Given the description of an element on the screen output the (x, y) to click on. 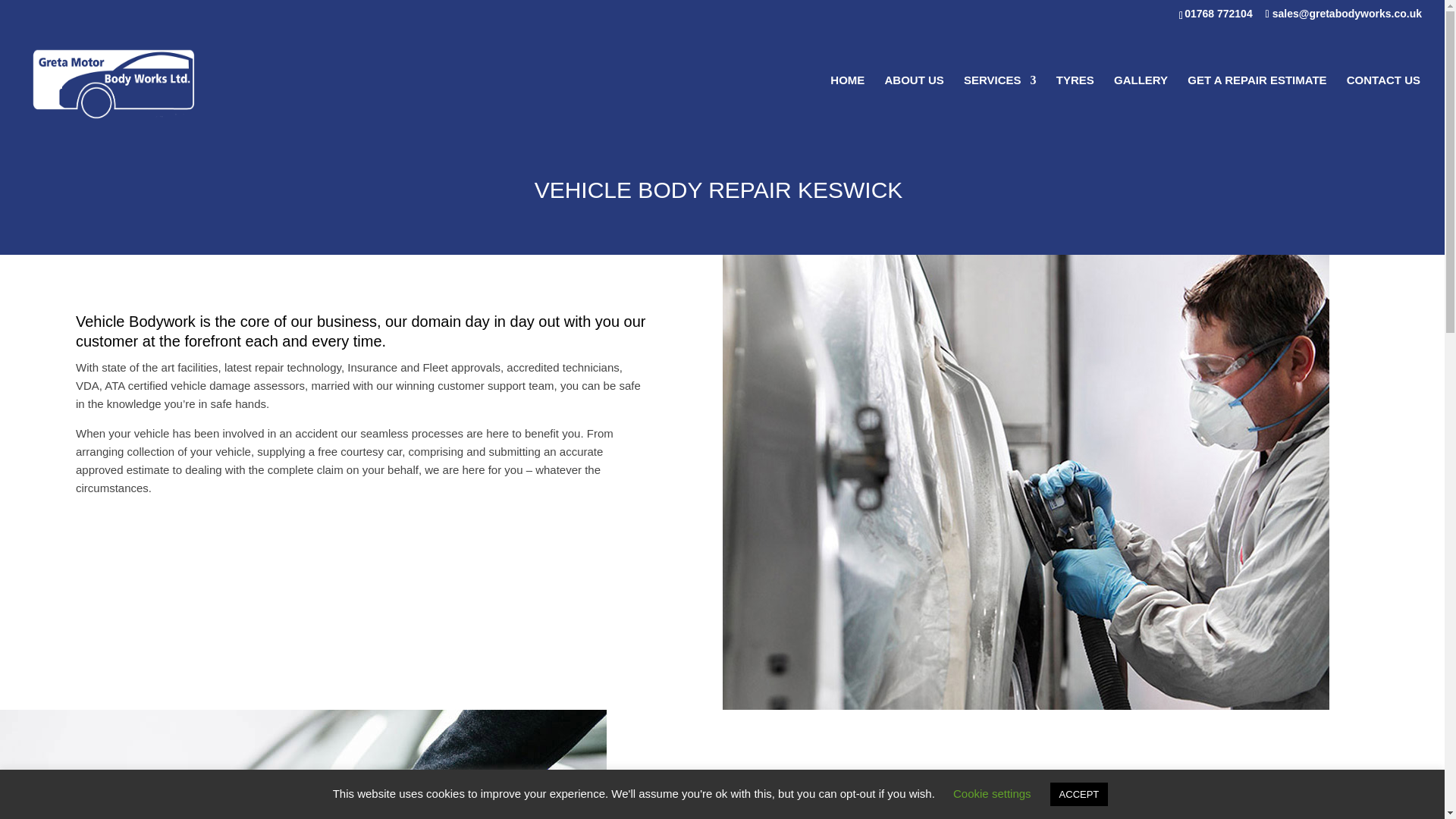
HOME (846, 104)
GALLERY (1140, 104)
ACCEPT (1078, 793)
TYRES (1075, 104)
Cookie settings (991, 793)
CONTACT US (1383, 104)
SERVICES (999, 104)
ABOUT US (913, 104)
vehicle-body-repairs-3 (303, 764)
GET A REPAIR ESTIMATE (1257, 104)
